Given the description of an element on the screen output the (x, y) to click on. 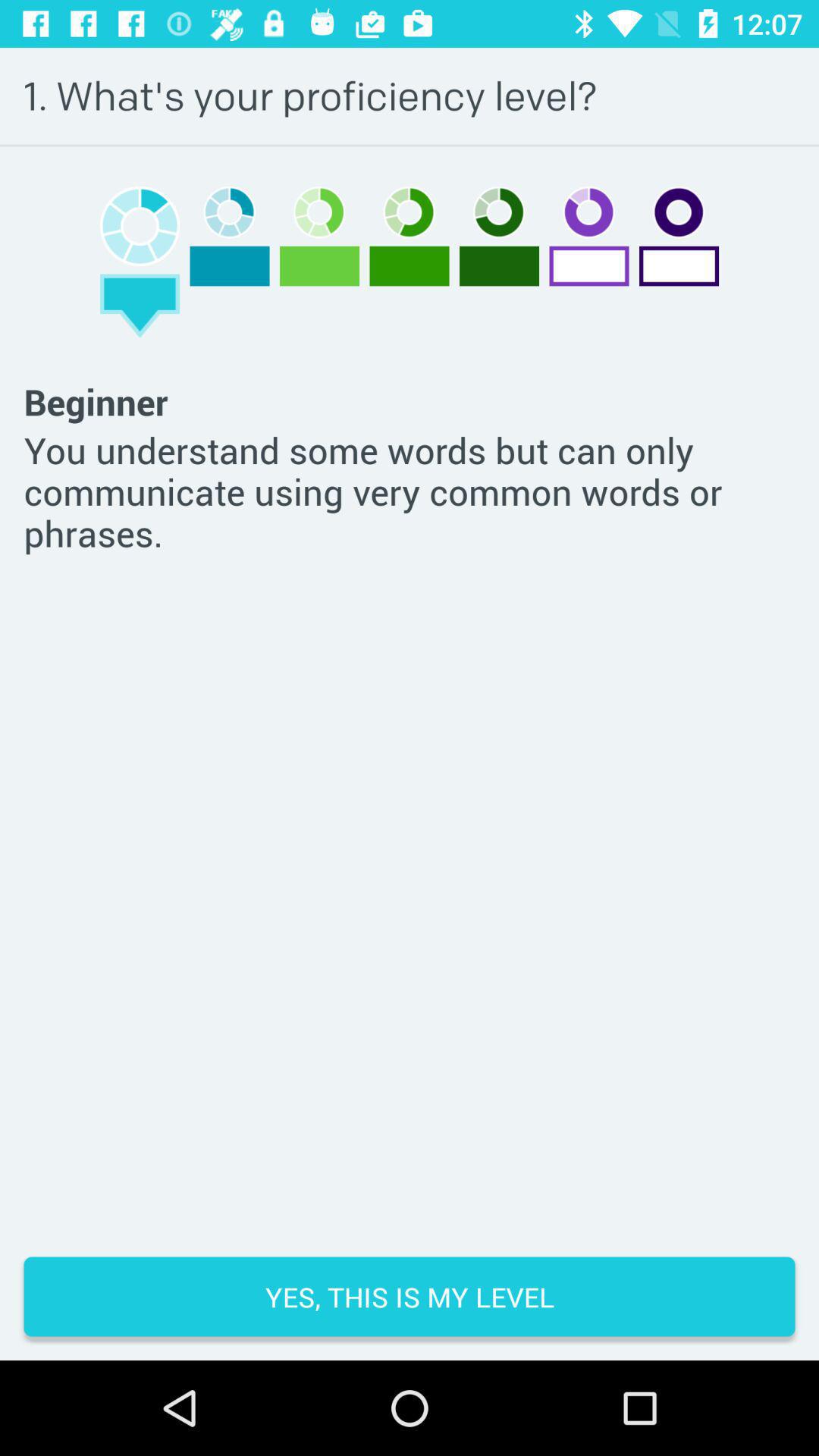
press the yes this is item (409, 1296)
